Given the description of an element on the screen output the (x, y) to click on. 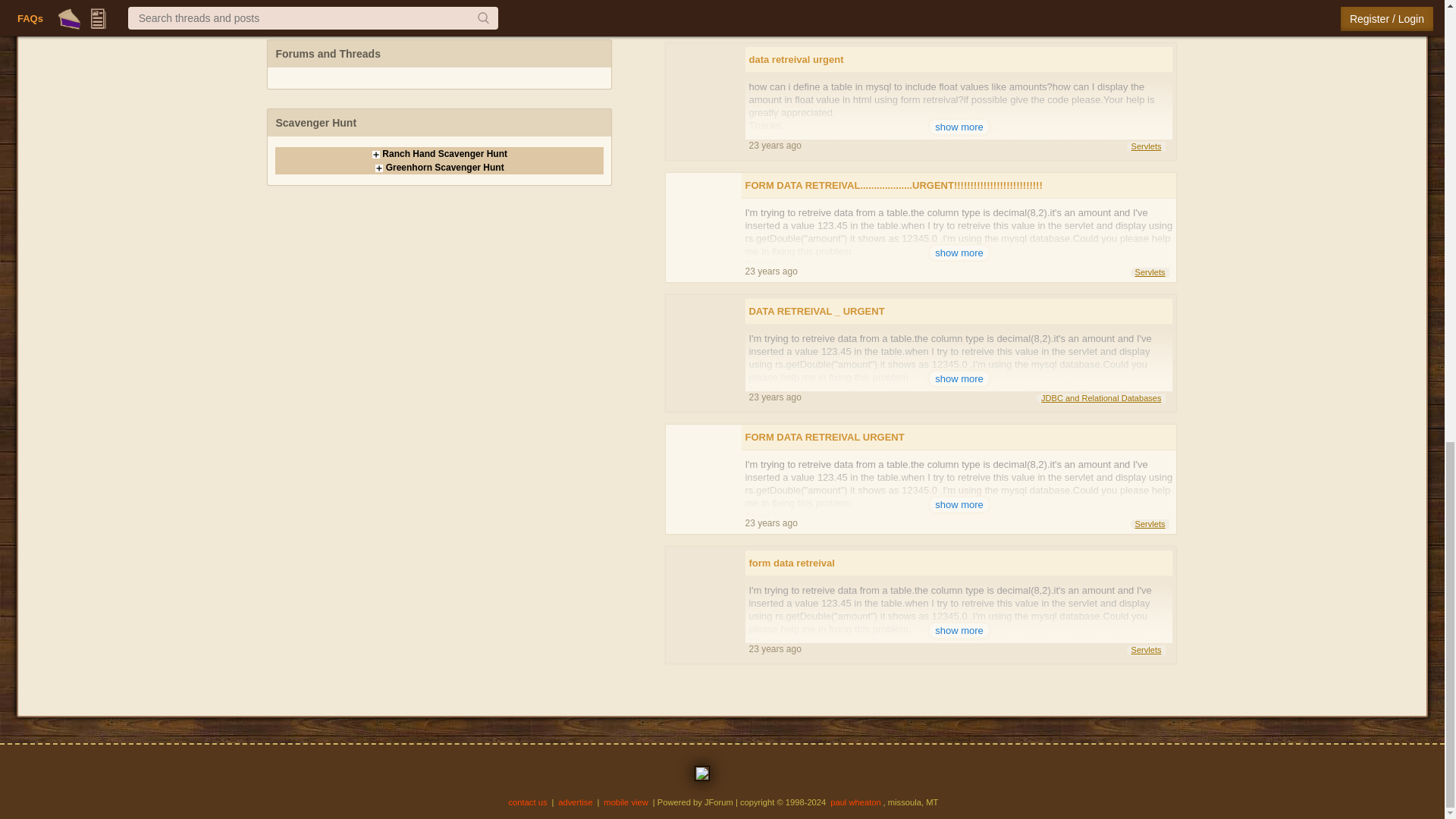
data retreival urgent (958, 59)
show more (959, 4)
show more (959, 126)
mobile view (626, 801)
Servlets (1150, 20)
Servlets (1146, 146)
